Given the description of an element on the screen output the (x, y) to click on. 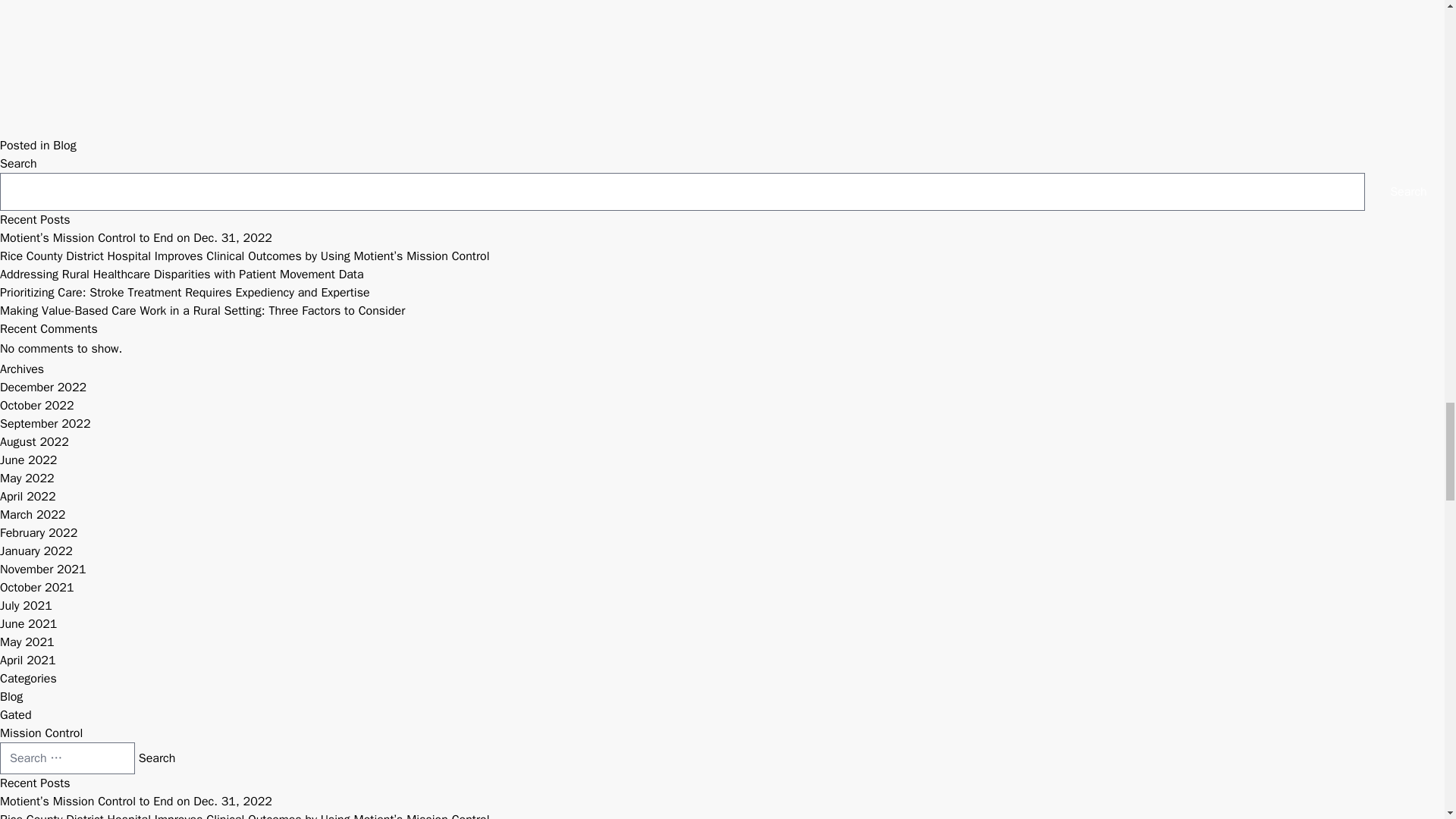
February 2022 (38, 532)
October 2021 (37, 587)
June 2021 (28, 623)
Search (1408, 190)
March 2022 (32, 514)
July 2021 (26, 605)
May 2022 (27, 478)
Search (157, 758)
Blog (63, 145)
June 2022 (28, 459)
December 2022 (42, 387)
November 2021 (42, 569)
